Given the description of an element on the screen output the (x, y) to click on. 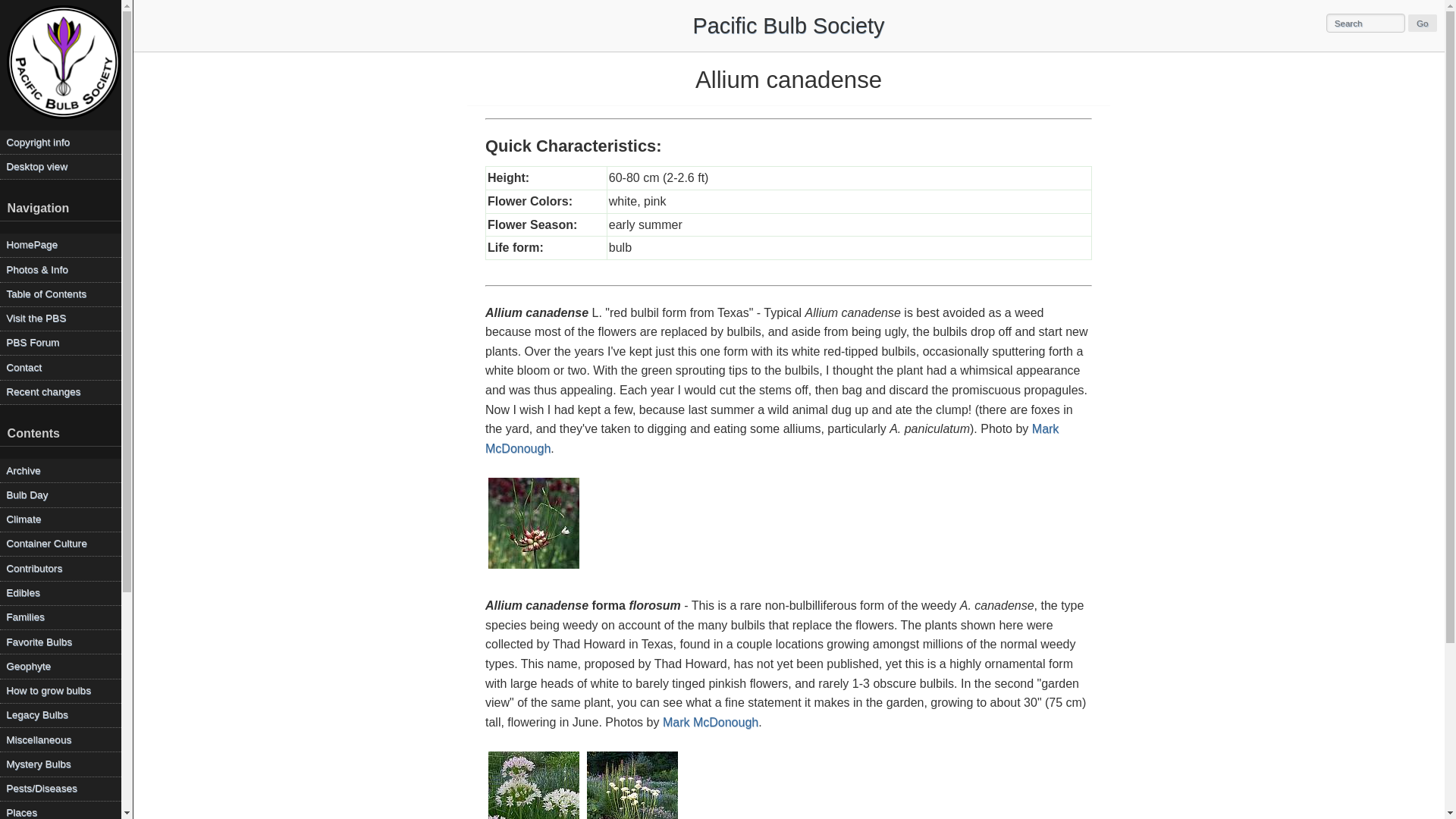
Allium canadense forma florosum, Mark McDonough (632, 783)
Desktop view (60, 166)
Visit the PBS (60, 318)
Allium canadense with bulbils, Mark McDonough (533, 523)
Copyright info (60, 141)
HomePage (60, 245)
Table of Contents (60, 294)
Go (1422, 23)
Contact (60, 367)
Favorite Bulbs (60, 641)
